Given the description of an element on the screen output the (x, y) to click on. 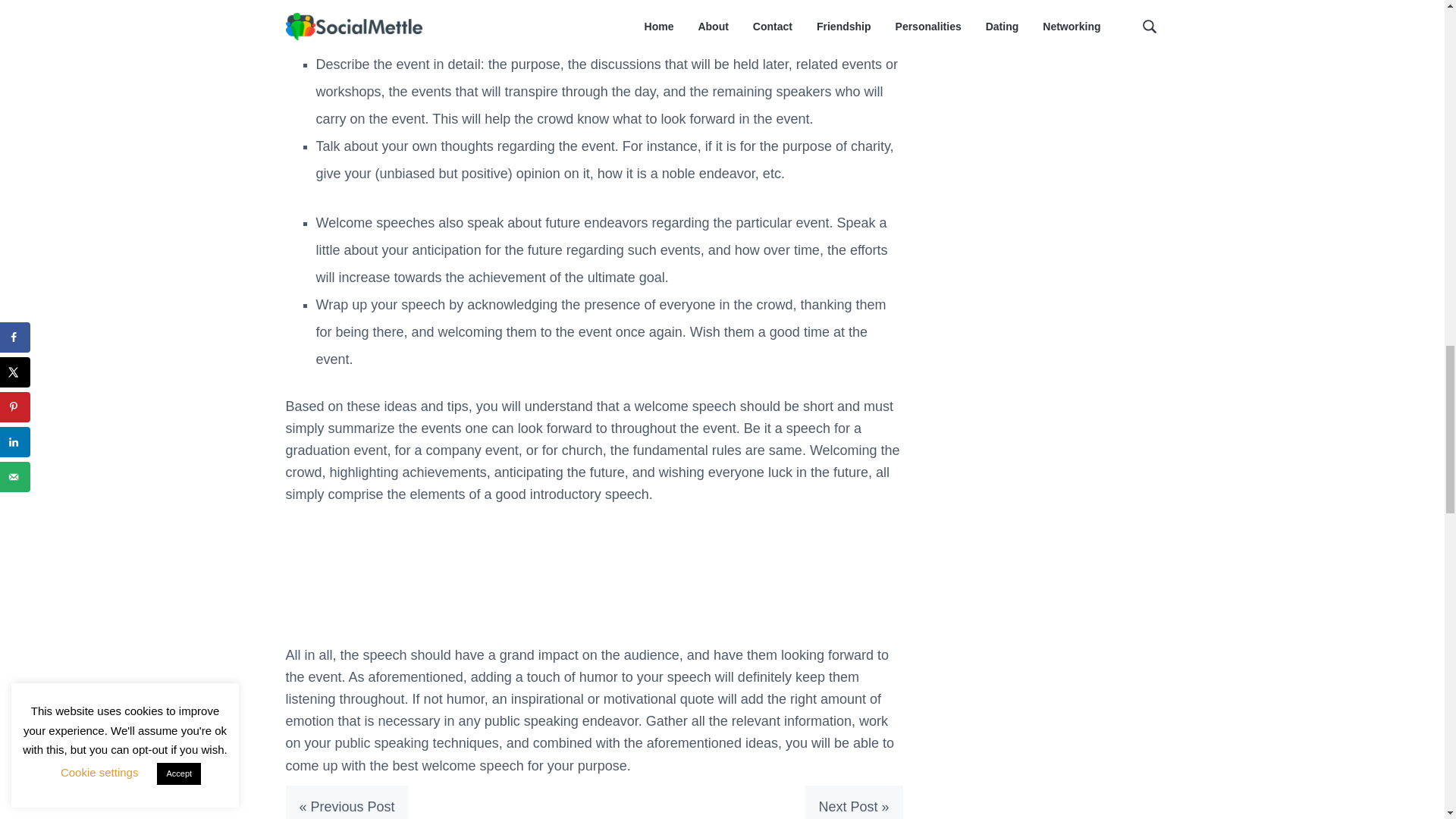
Insticator Content Engagement Unit (398, 581)
